Given the description of an element on the screen output the (x, y) to click on. 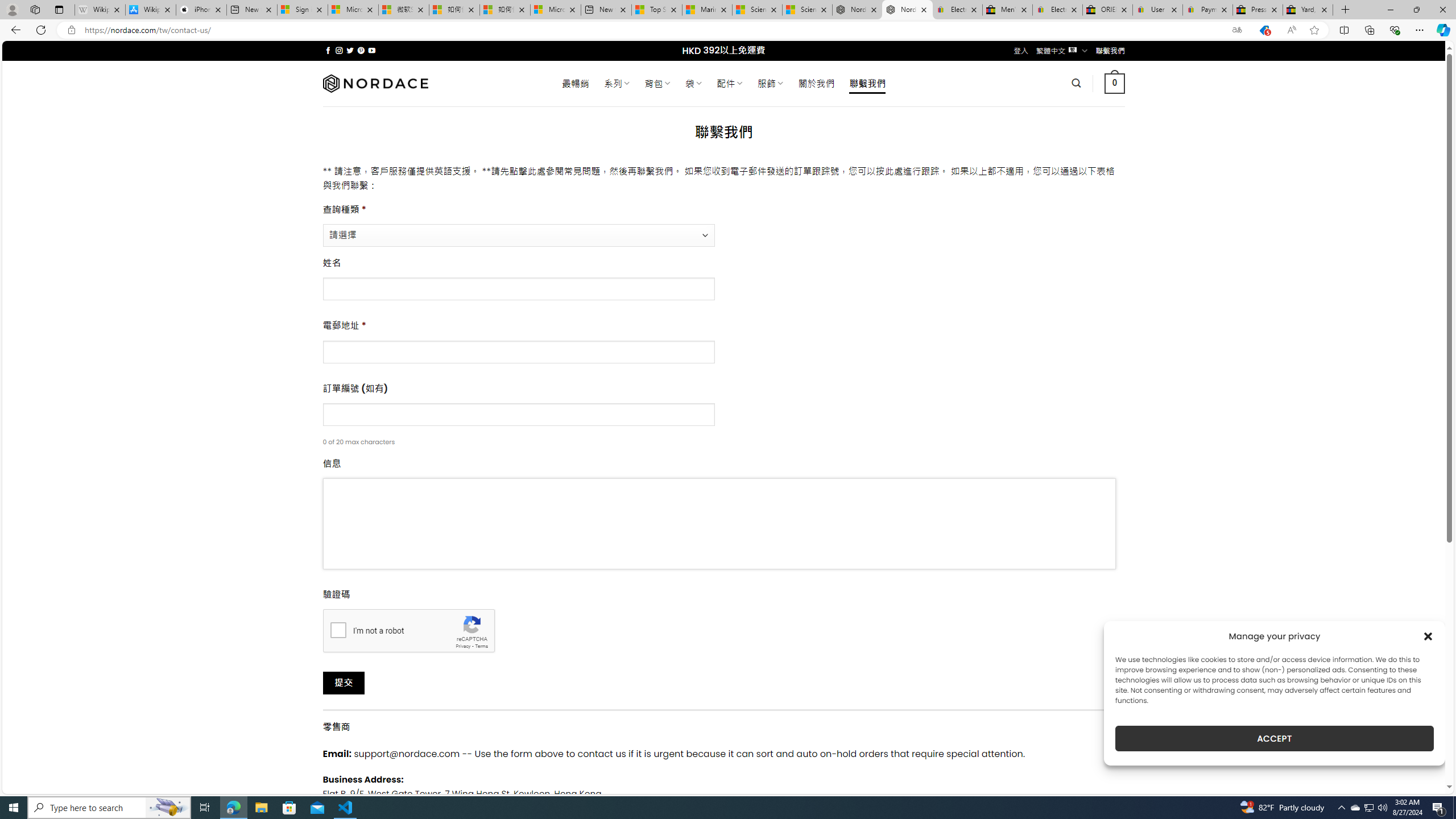
Show translate options (1236, 29)
iPhone - Apple (201, 9)
Top Stories - MSN (656, 9)
